Given the description of an element on the screen output the (x, y) to click on. 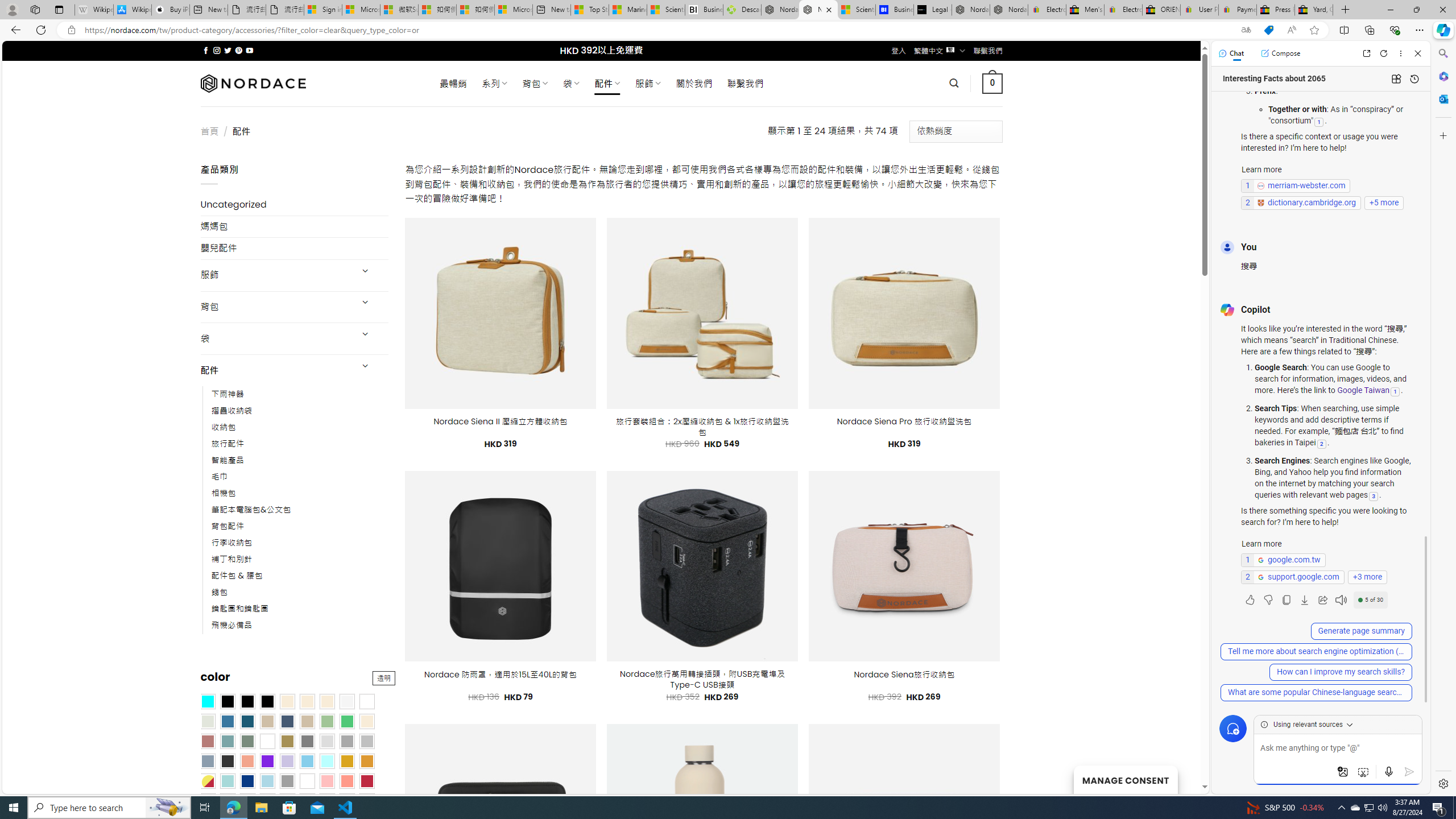
Sign in to your Microsoft account (322, 9)
Uncategorized (294, 204)
Marine life - MSN (628, 9)
Uncategorized (294, 204)
MANAGE CONSENT (1125, 779)
